Given the description of an element on the screen output the (x, y) to click on. 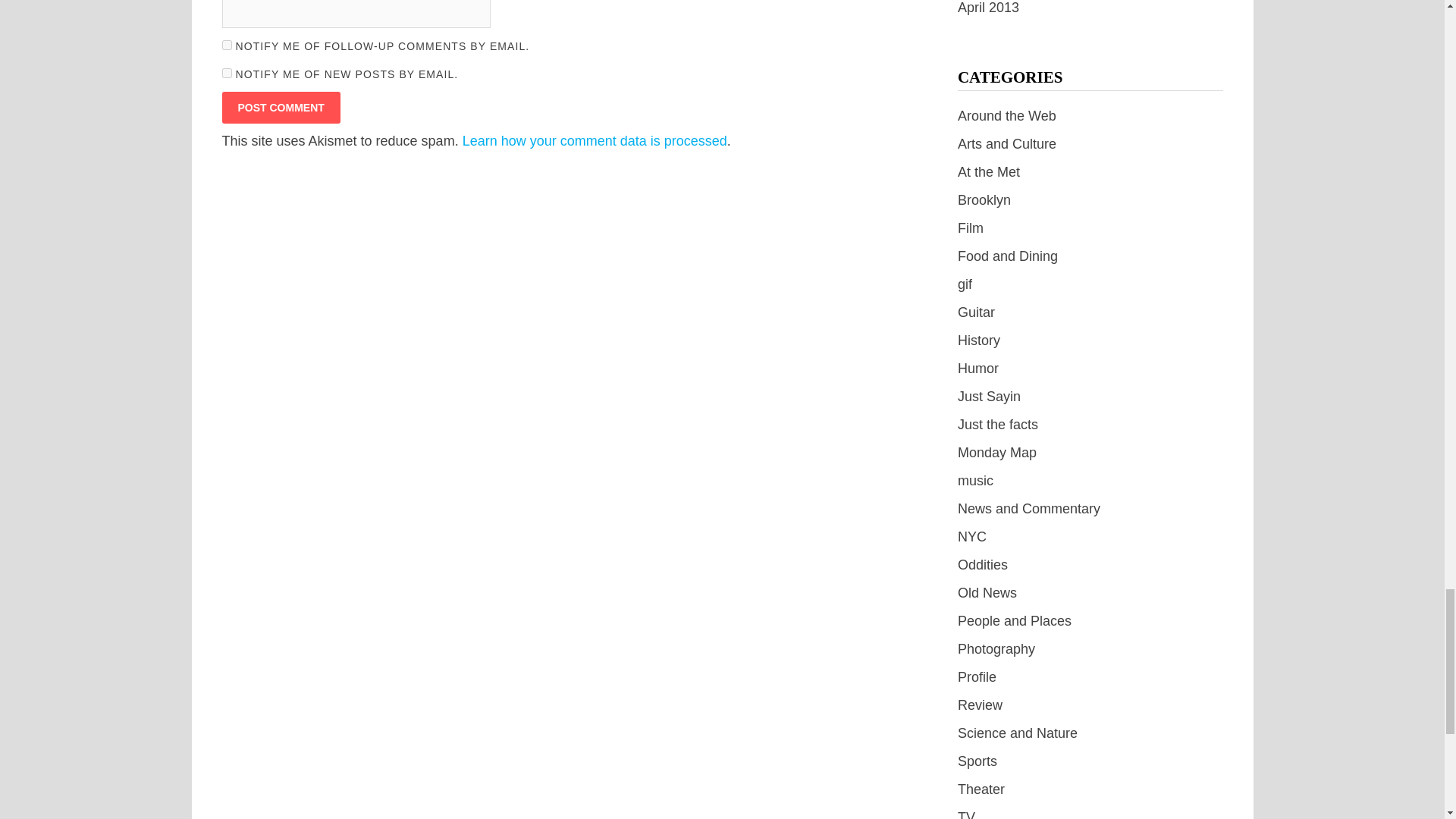
Post Comment (280, 107)
subscribe (226, 44)
subscribe (226, 72)
